Given the description of an element on the screen output the (x, y) to click on. 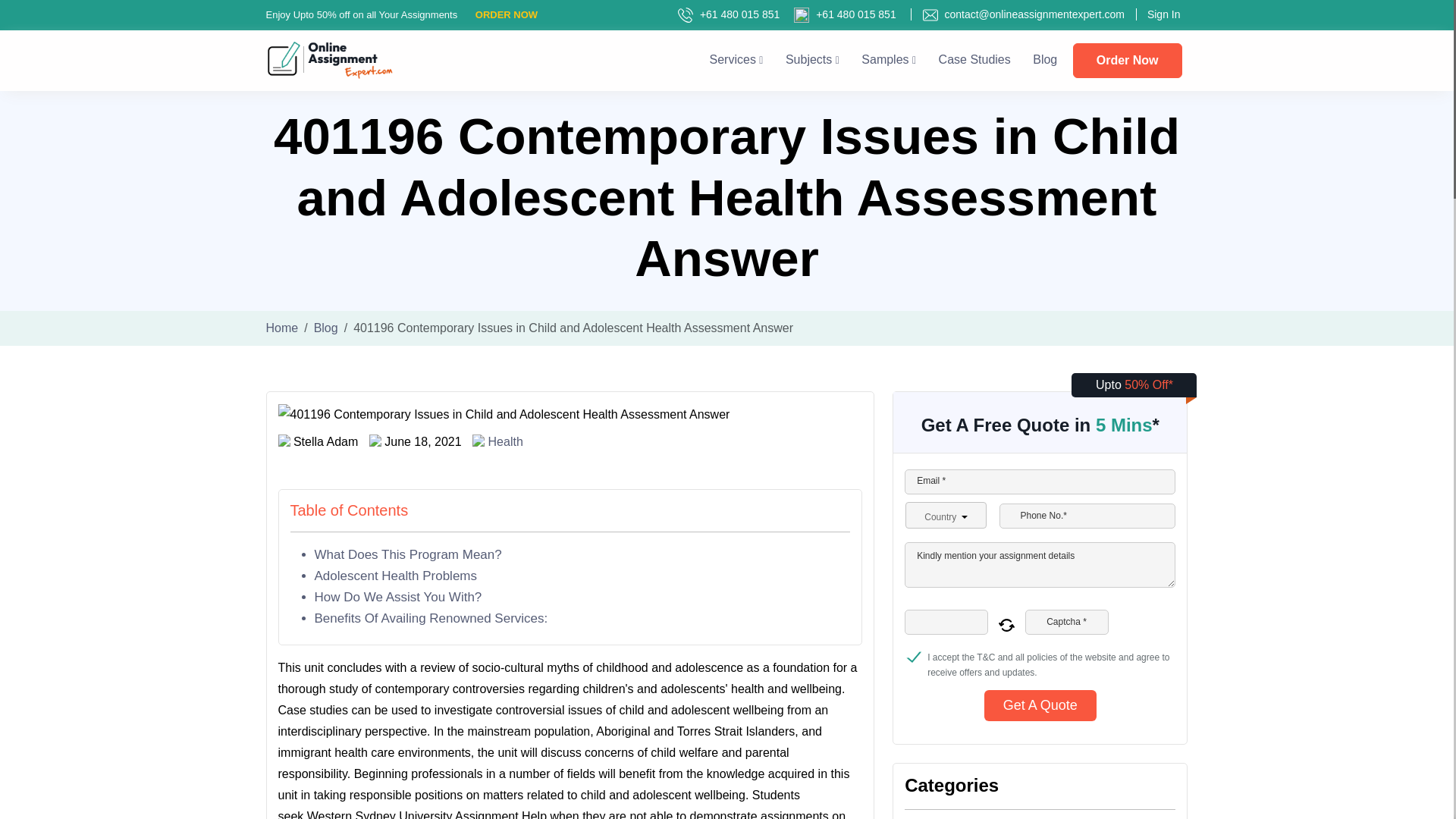
Adolescent Health Problems (395, 575)
How Do We Assist You With? (397, 596)
Benefits Of Availing Renowned Services: (430, 617)
Subjects (813, 59)
Adolescent Health Problems (395, 575)
What Does This Program Mean? (407, 554)
Benefits Of Availing Renowned Services: (430, 617)
What Does This Program Mean? (407, 554)
Sign In (1157, 14)
Services (736, 59)
